Given the description of an element on the screen output the (x, y) to click on. 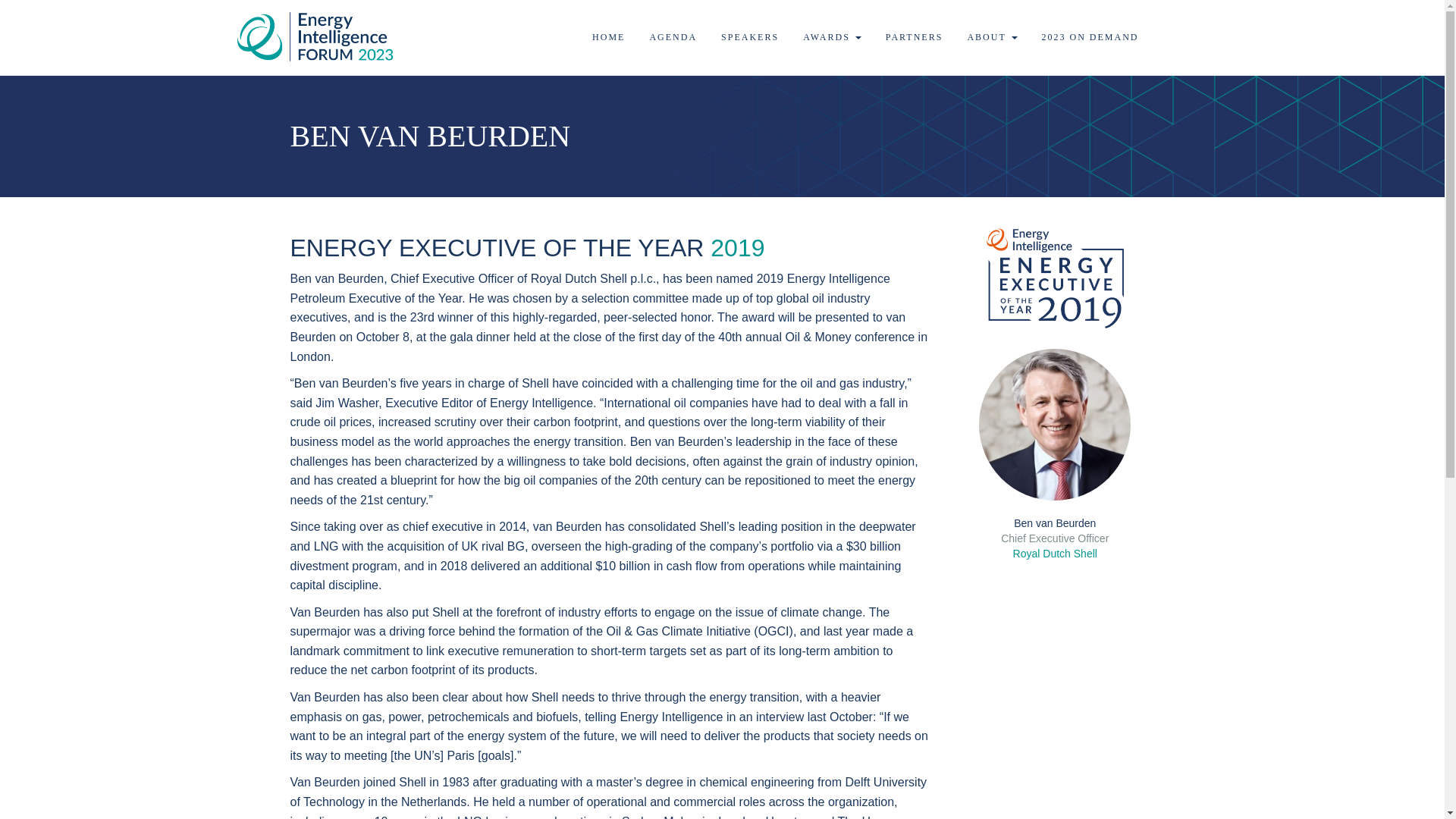
2023 ON DEMAND (1089, 37)
HOME (608, 37)
AGENDA (672, 37)
PARTNERS (914, 37)
AWARDS (831, 37)
ABOUT (991, 37)
SPEAKERS (750, 37)
